Given the description of an element on the screen output the (x, y) to click on. 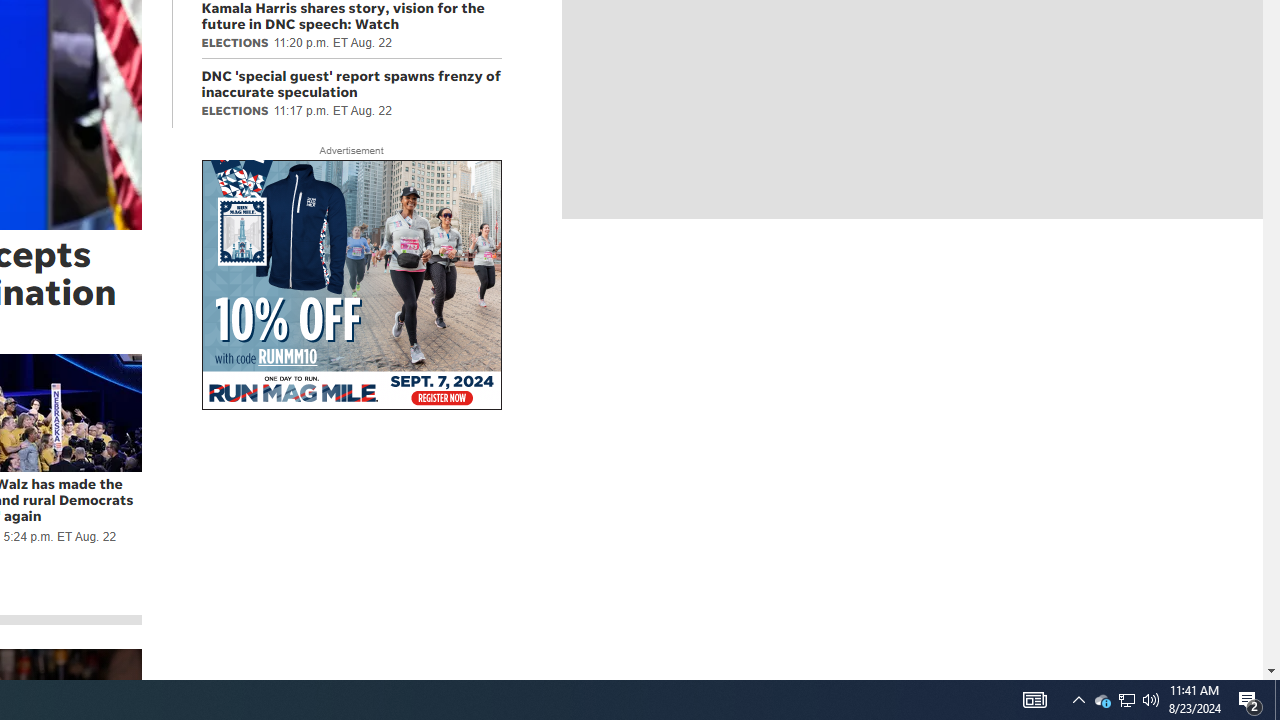
AutomationID: aw0 (350, 286)
